Given the description of an element on the screen output the (x, y) to click on. 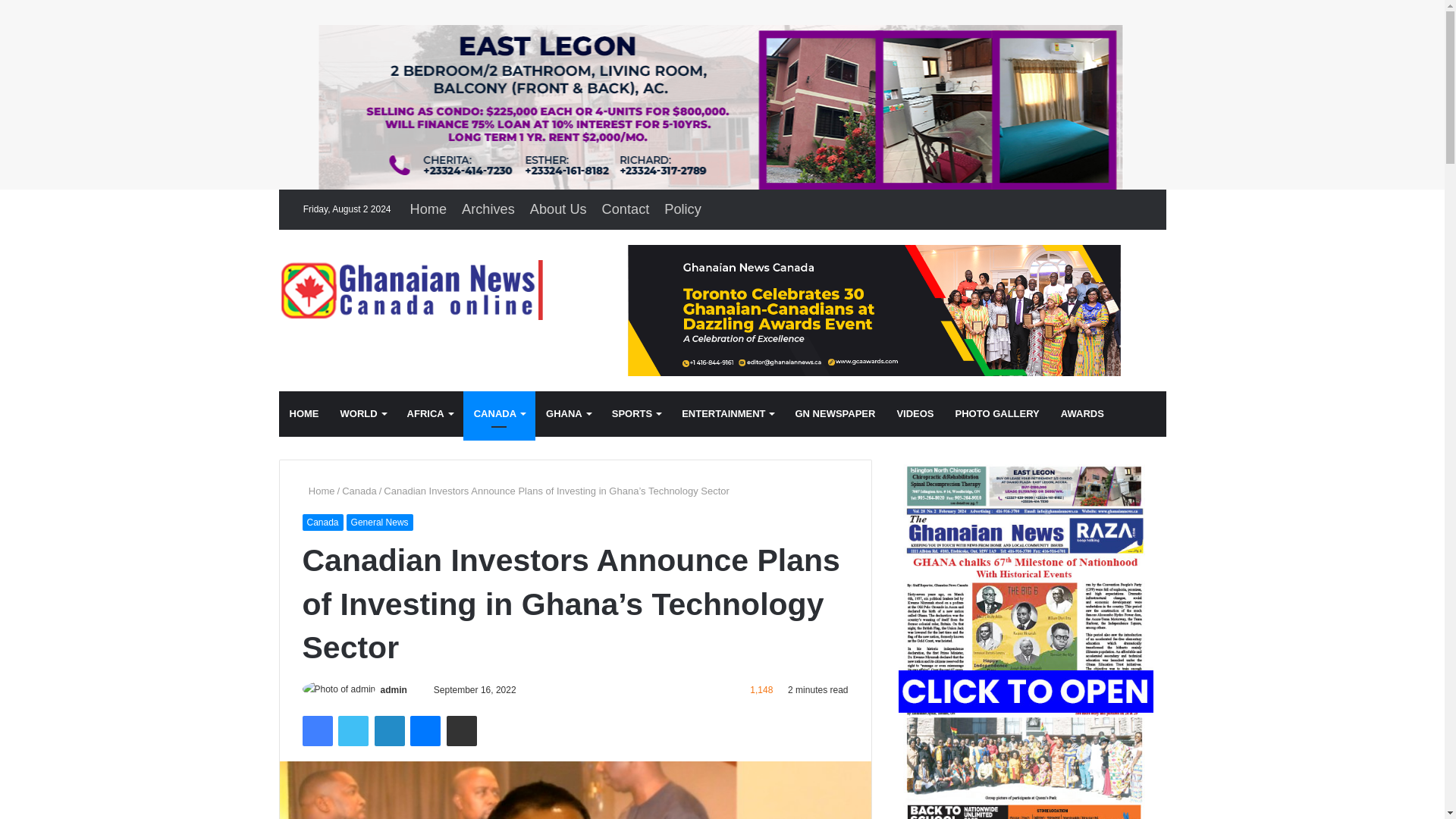
GHANA (568, 413)
Twitter (352, 730)
AFRICA (429, 413)
LinkedIn (389, 730)
Twitter (352, 730)
VIDEOS (914, 413)
CANADA (499, 413)
Home (428, 209)
admin (393, 689)
admin (393, 689)
